Given the description of an element on the screen output the (x, y) to click on. 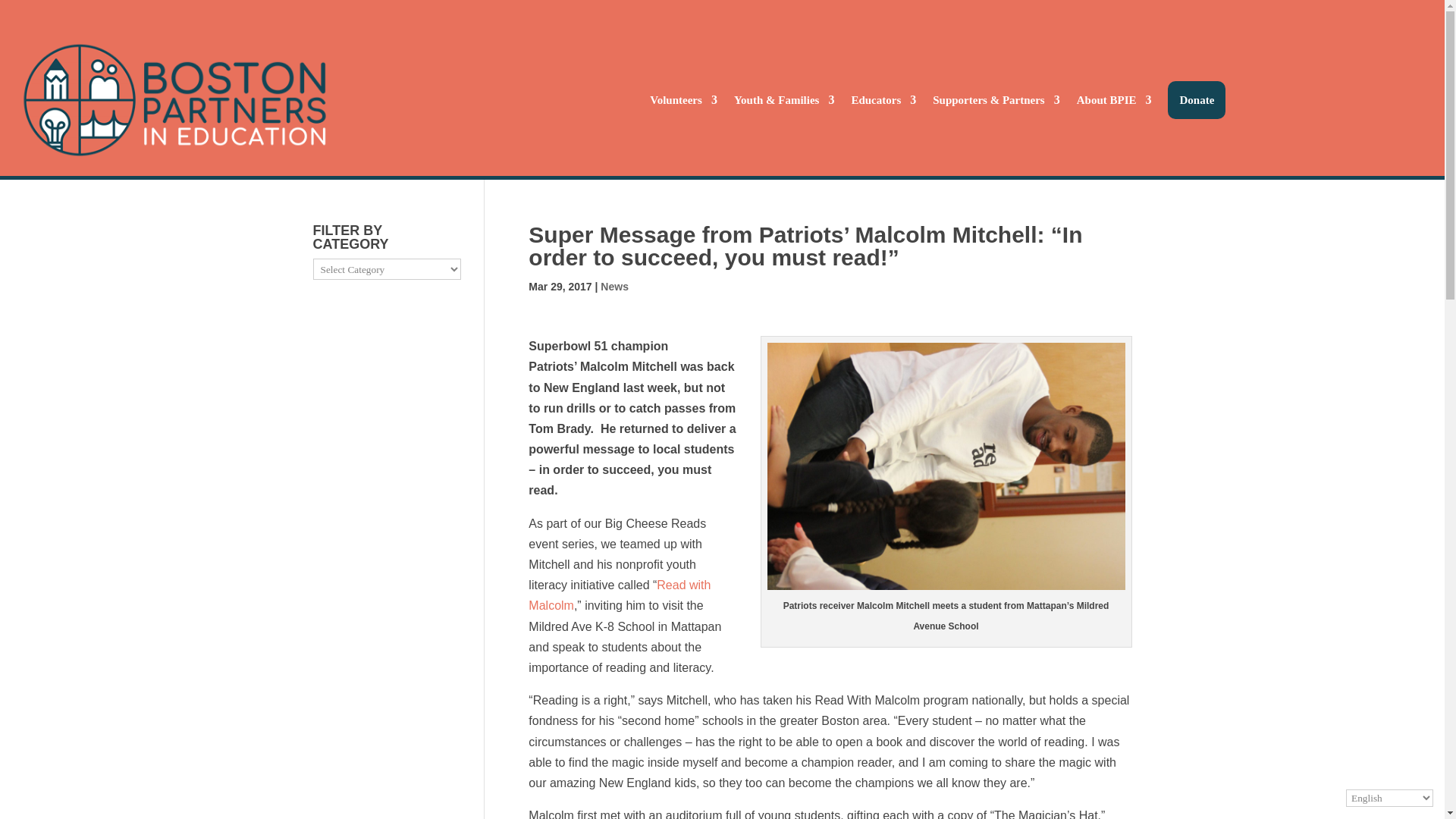
Donate (1196, 99)
